Given the description of an element on the screen output the (x, y) to click on. 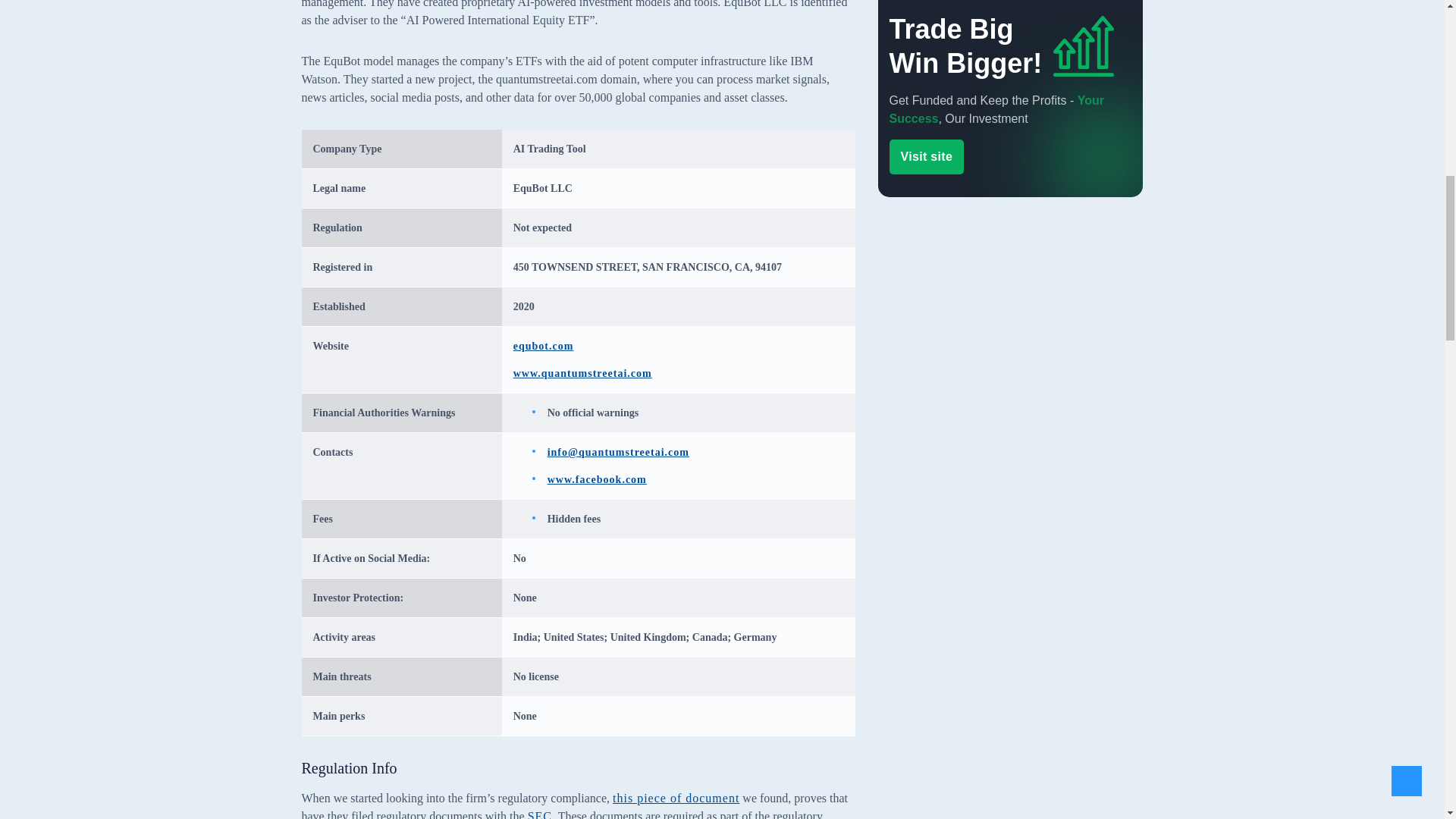
www.quantumstreetai.com (582, 373)
SEC (539, 814)
www.facebook.com (596, 479)
equbot.com (543, 346)
this piece of document (675, 797)
